Given the description of an element on the screen output the (x, y) to click on. 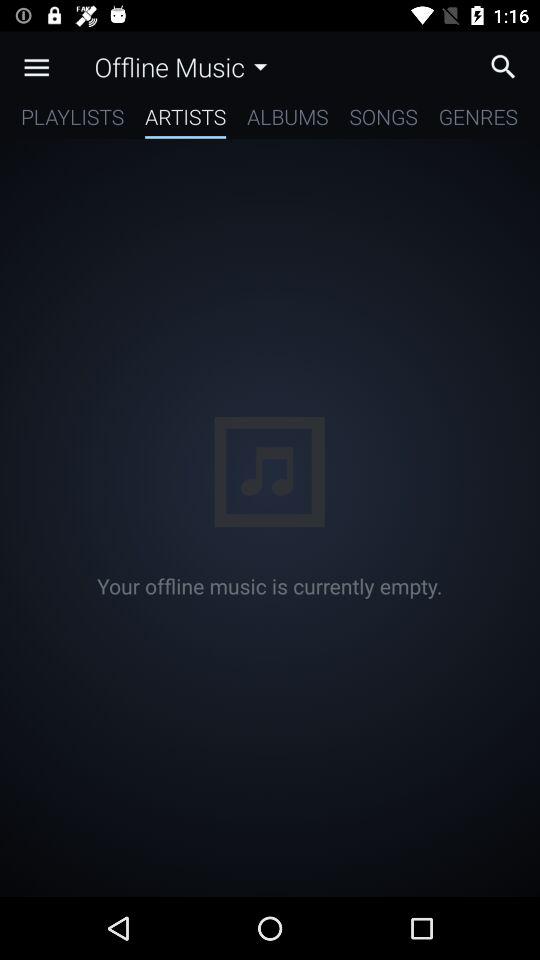
click item to the right of playlists icon (185, 120)
